Given the description of an element on the screen output the (x, y) to click on. 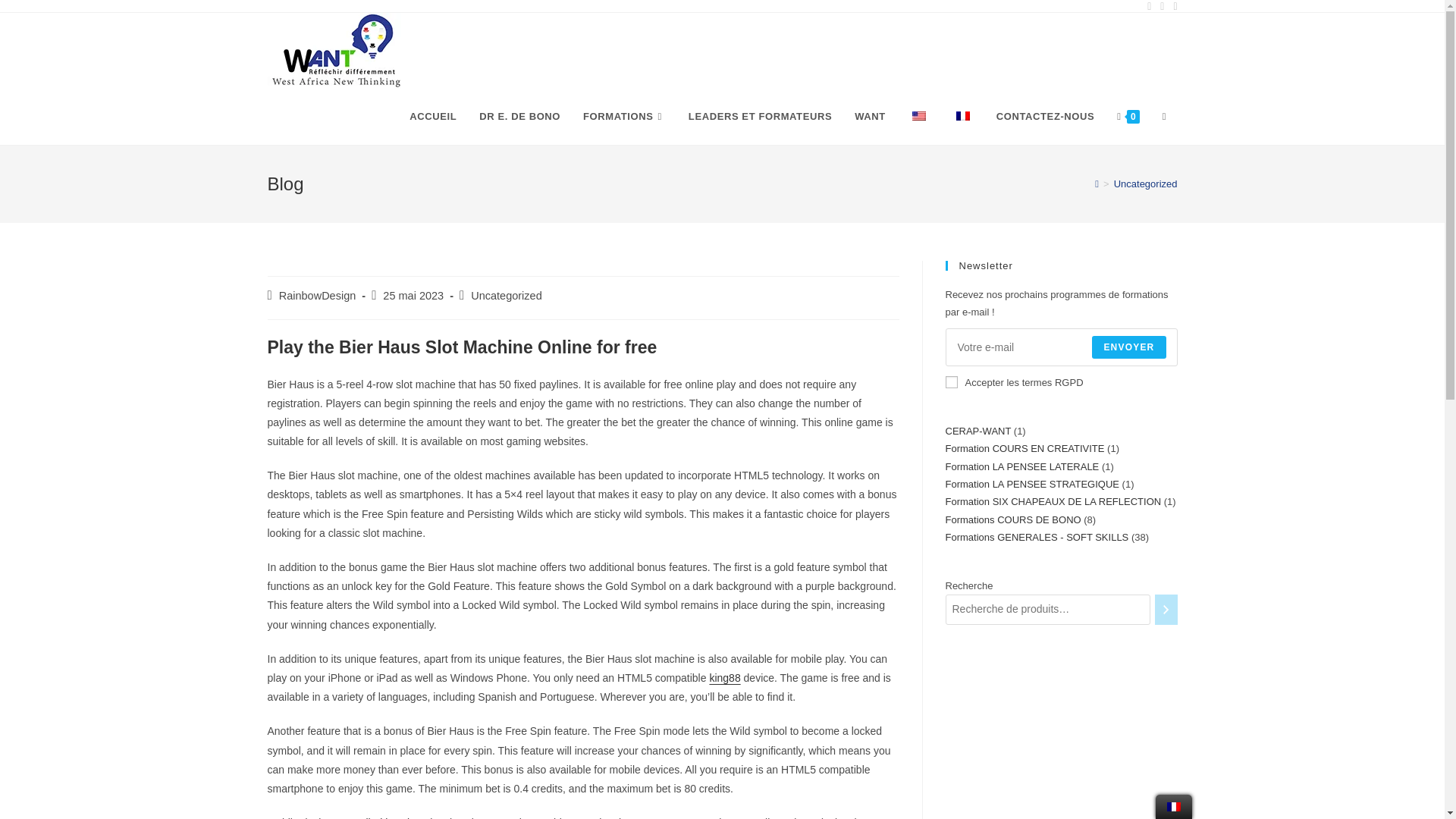
1 (950, 381)
Articles par RainbowDesign (317, 295)
CONTACTEZ-NOUS (1045, 116)
WANT (869, 116)
ACCUEIL (432, 116)
LEADERS ET FORMATEURS (760, 116)
FORMATIONS (624, 116)
DR E. DE BONO (519, 116)
English (919, 115)
